Given the description of an element on the screen output the (x, y) to click on. 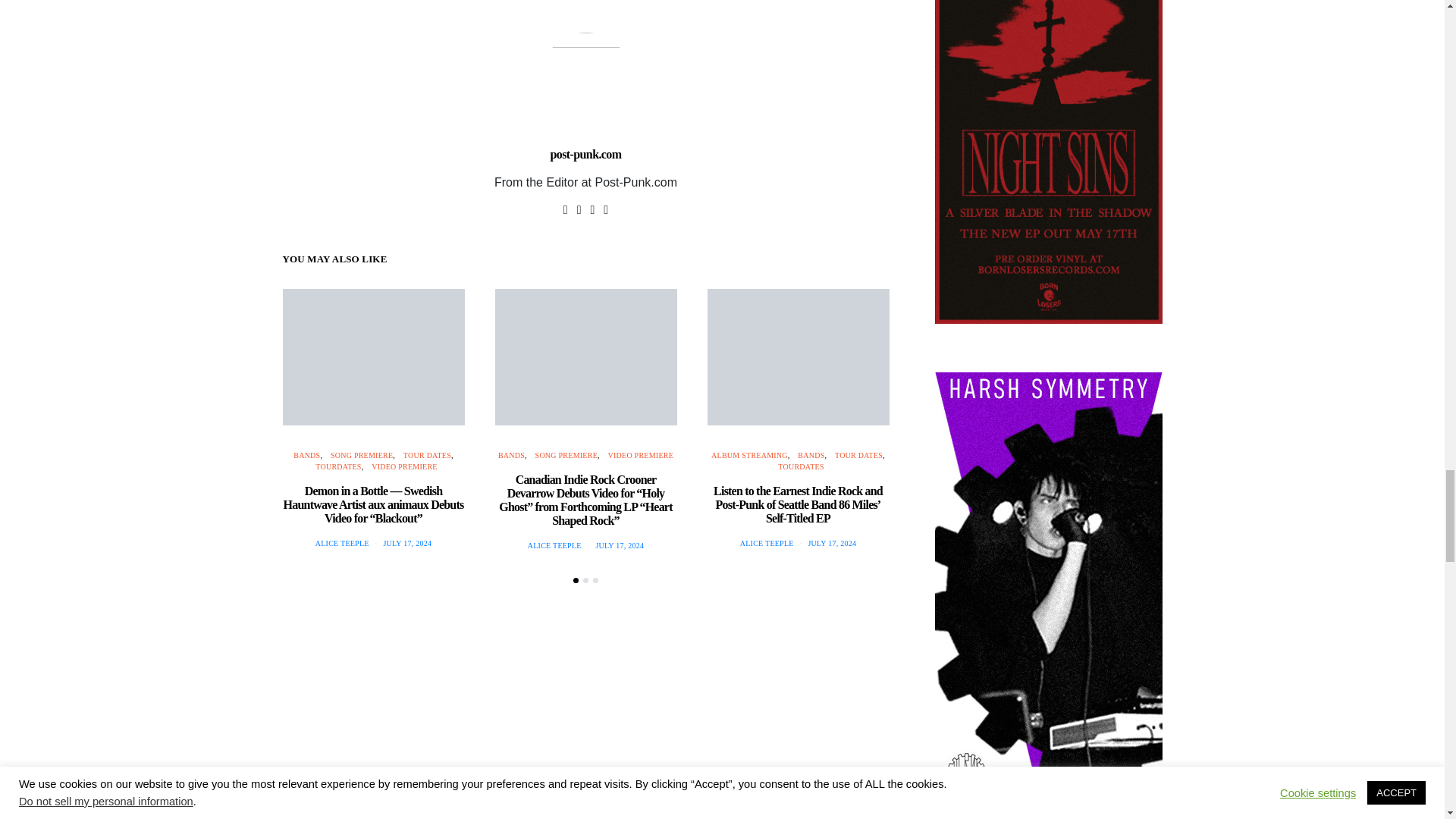
View all posts by Alice Teeple (553, 545)
View all posts by Alice Teeple (766, 542)
View all posts by Alice Teeple (342, 542)
